Given the description of an element on the screen output the (x, y) to click on. 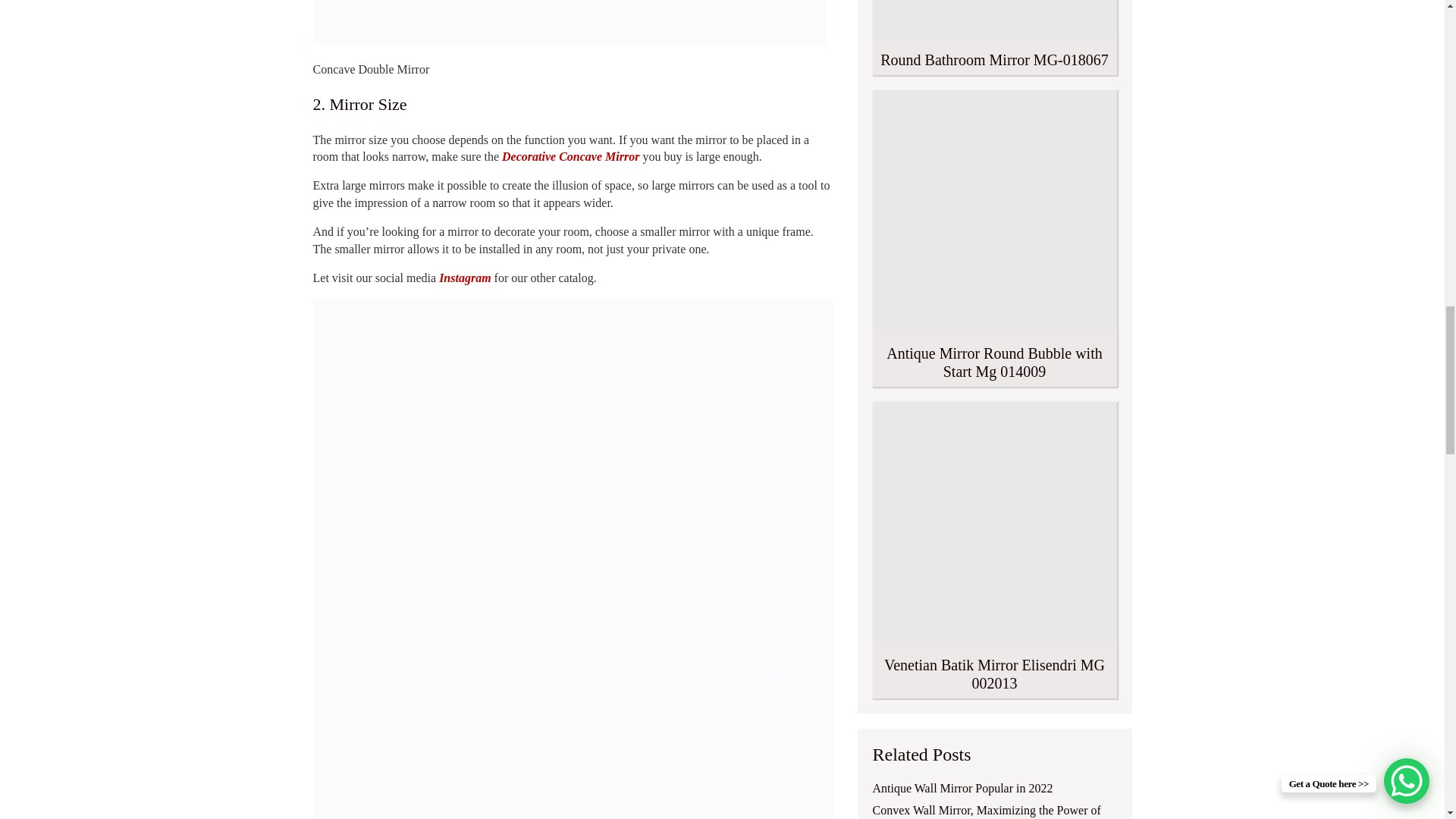
Instagram (464, 277)
Antique Wall Mirror Popular in 2022 (962, 788)
Concave Mirrors Interior Design (569, 22)
Convex Wall Mirror, Maximizing the Power of Energy at Home (994, 811)
Decorative Concave Mirror (570, 155)
Round Bathroom Mirror MG-018067 (994, 37)
